Given the description of an element on the screen output the (x, y) to click on. 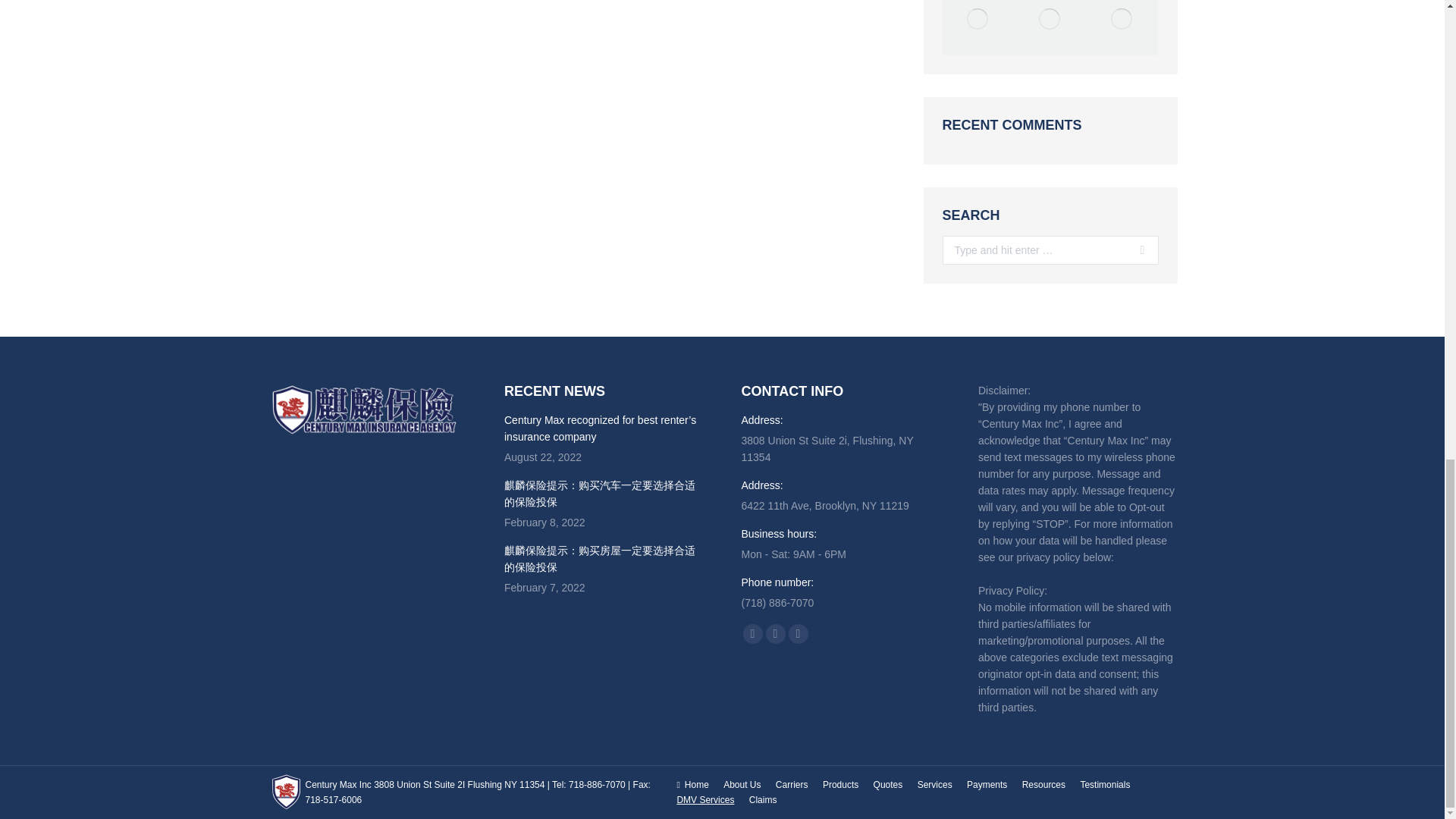
Go! (1137, 249)
Go! (1137, 249)
